Given the description of an element on the screen output the (x, y) to click on. 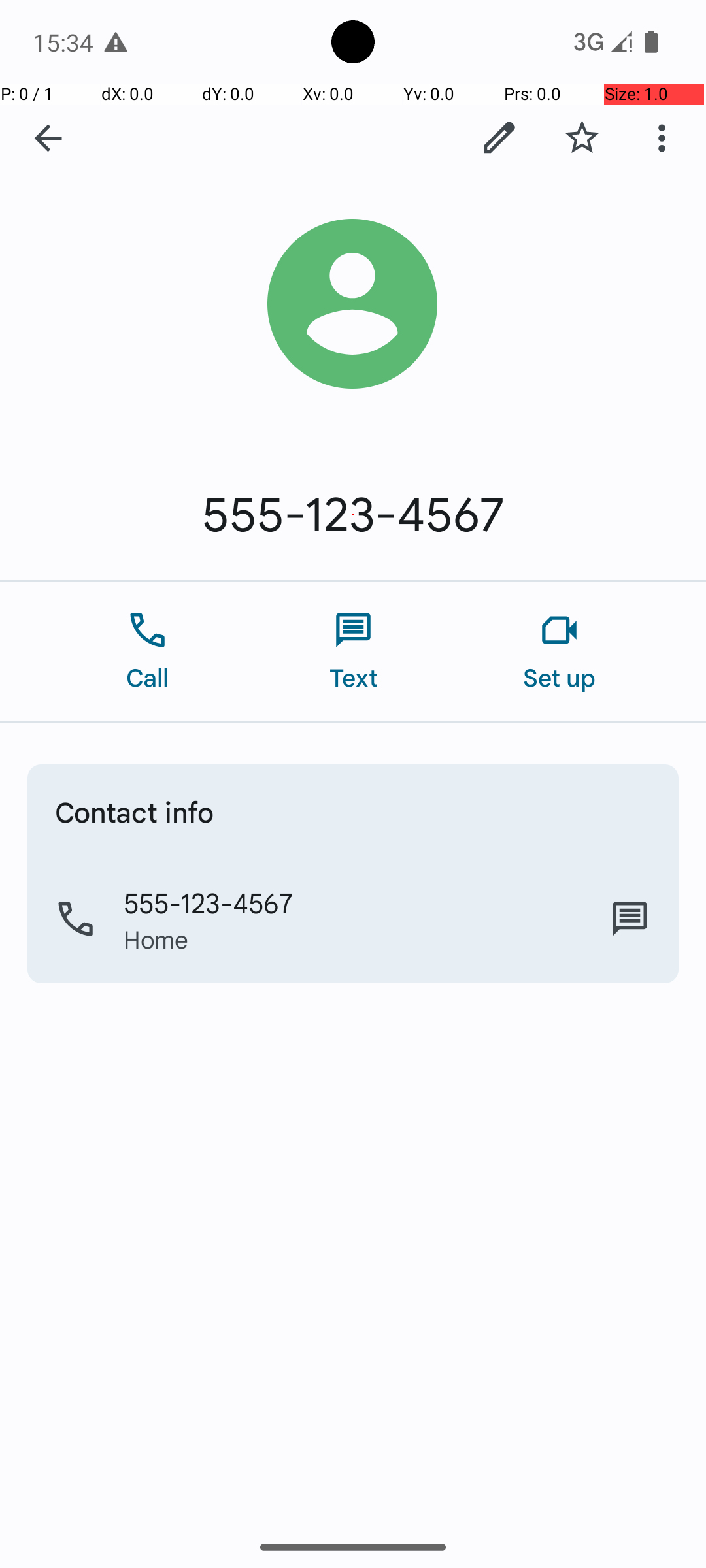
Edit contact Element type: android.widget.Button (498, 137)
Add to favorites Element type: android.widget.Button (581, 137)
Contact photo Element type: android.widget.ImageView (352, 303)
Call Element type: android.widget.TextView (147, 651)
Text Element type: android.widget.TextView (353, 651)
Set up Element type: android.widget.TextView (559, 651)
555-123-4567 Element type: android.widget.TextView (352, 514)
Contact info Element type: android.widget.TextView (134, 811)
Call Home 555-123-4567 Element type: android.widget.RelativeLayout (352, 919)
Text Home 555-123-4567 Element type: android.widget.Button (629, 919)
